Given the description of an element on the screen output the (x, y) to click on. 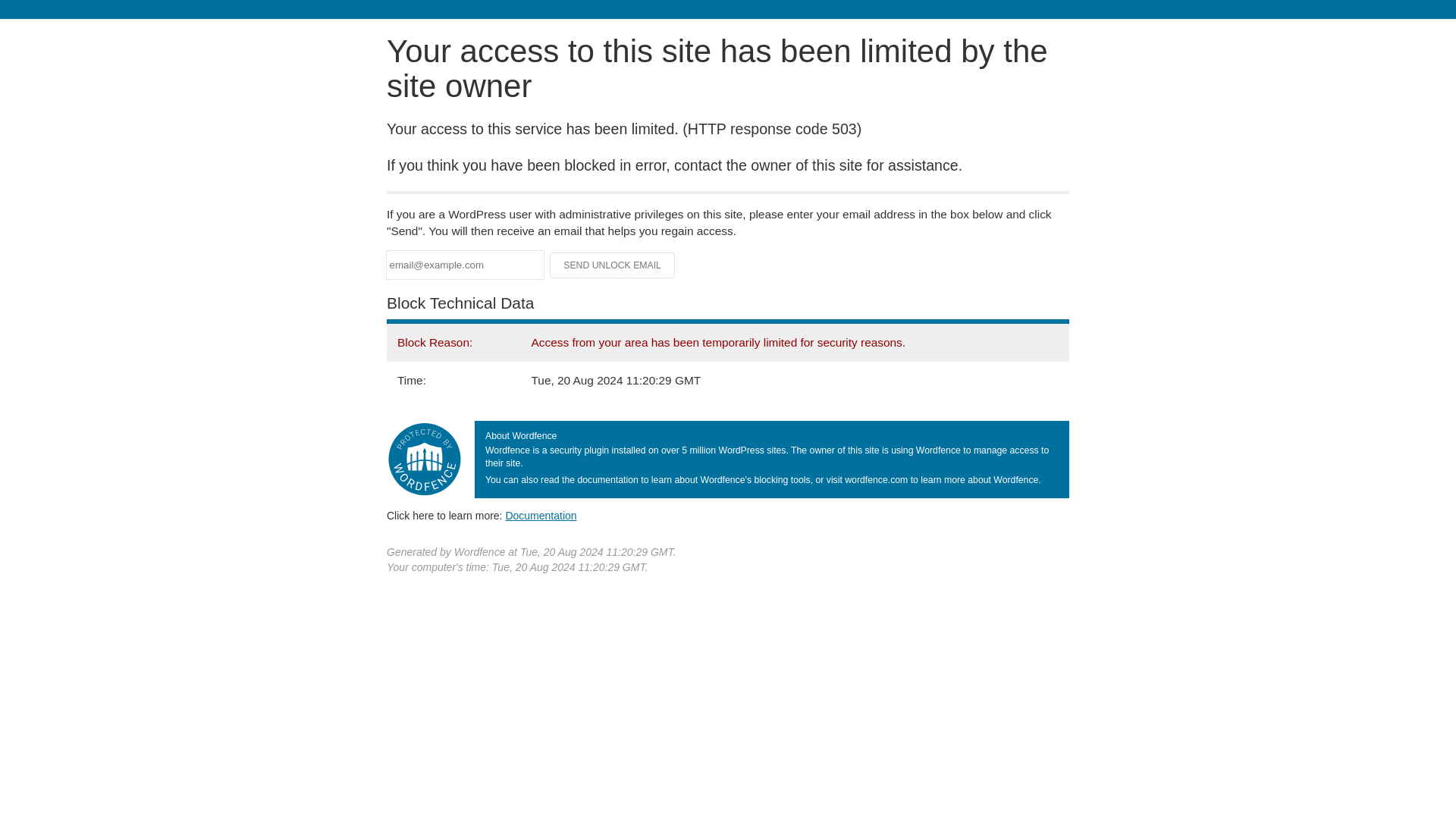
Documentation (540, 515)
Send Unlock Email (612, 265)
Send Unlock Email (612, 265)
